Given the description of an element on the screen output the (x, y) to click on. 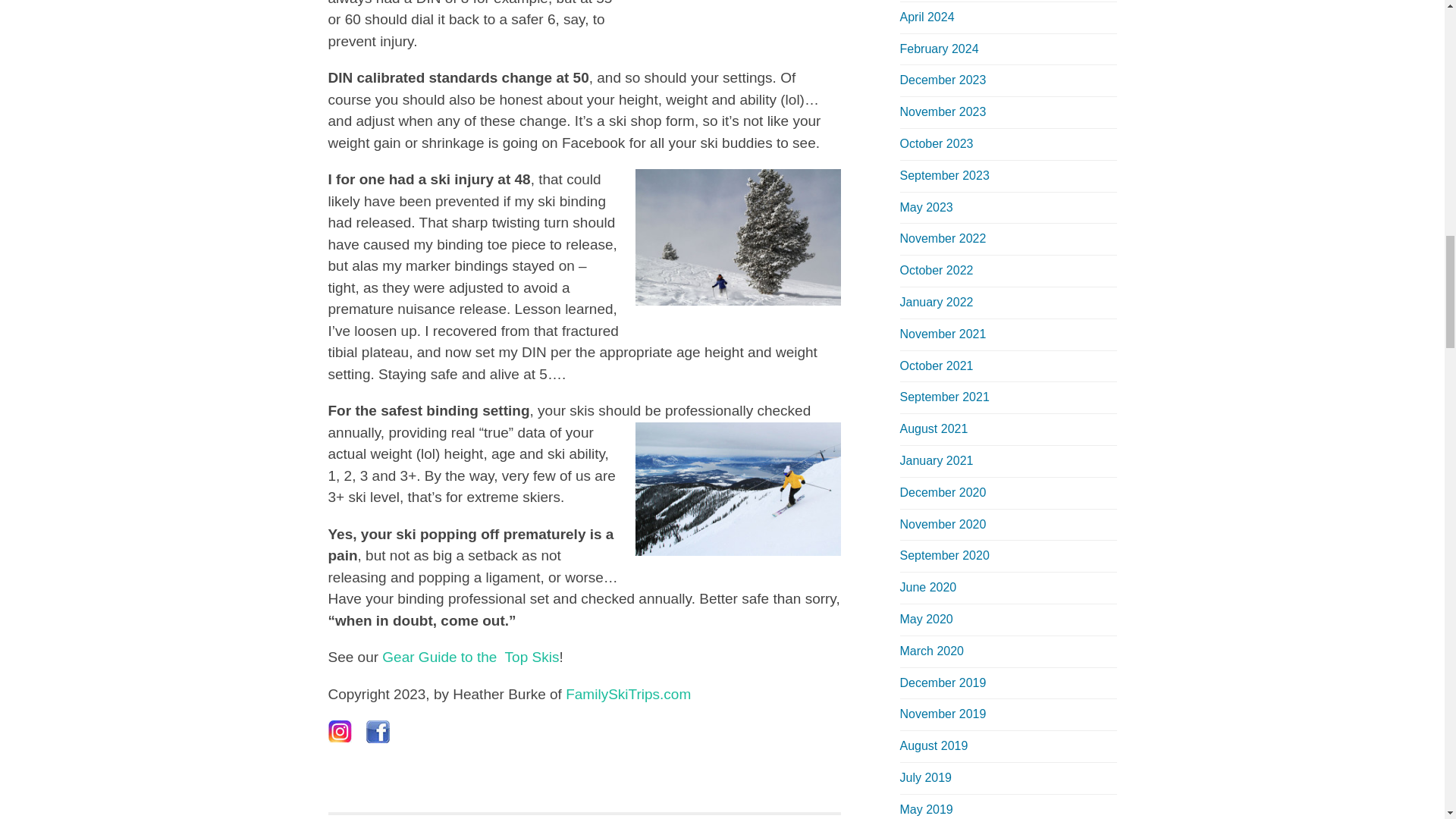
FamilySkiTrips.com (628, 693)
Gear Guide to the  Top Skis (470, 657)
